Given the description of an element on the screen output the (x, y) to click on. 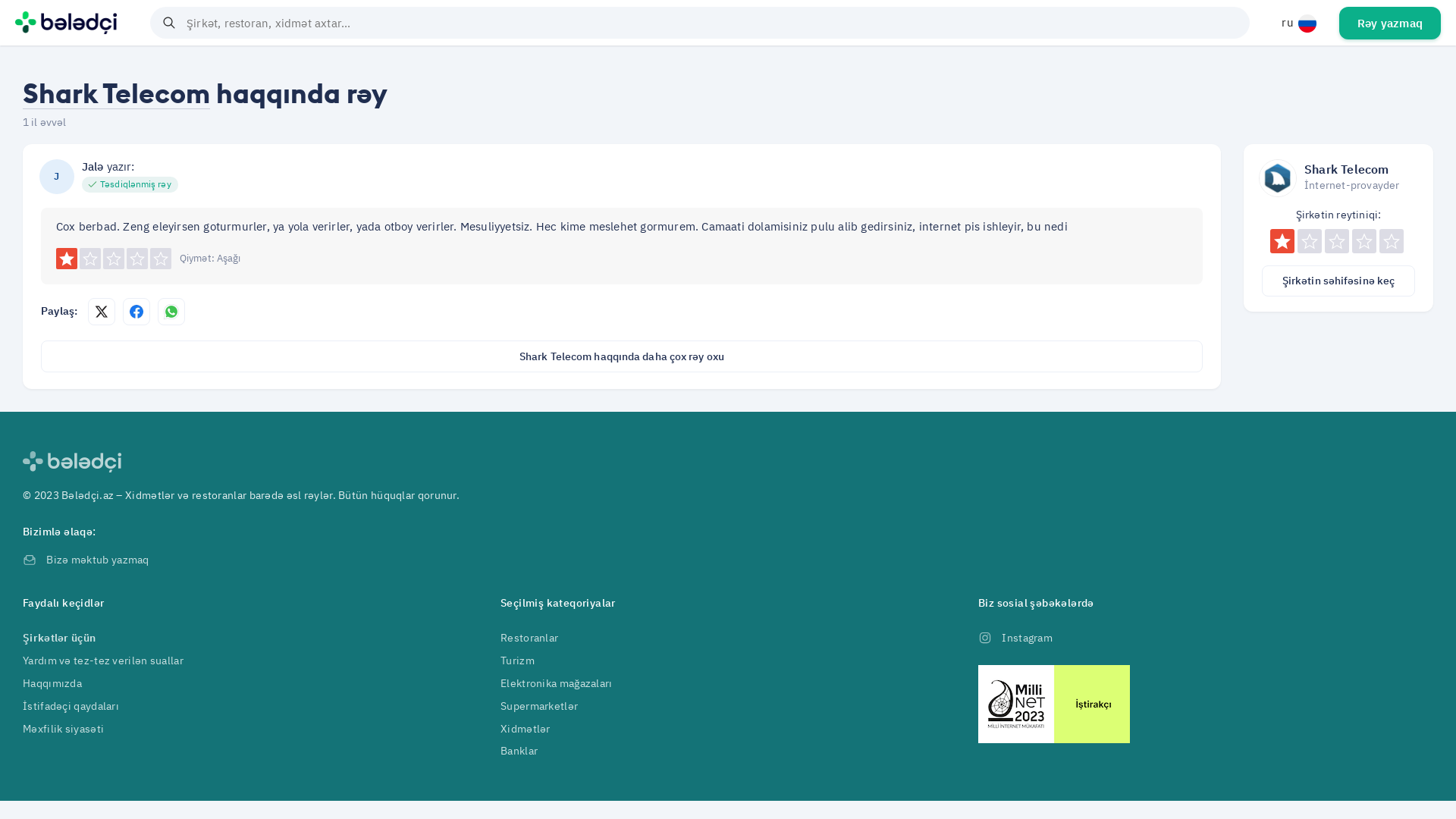
ru Element type: text (1298, 22)
Instagram Element type: text (1015, 637)
Banklar Element type: text (518, 750)
Turizm Element type: text (517, 660)
Restoranlar Element type: text (529, 637)
Shark Telecom Element type: text (116, 92)
